Given the description of an element on the screen output the (x, y) to click on. 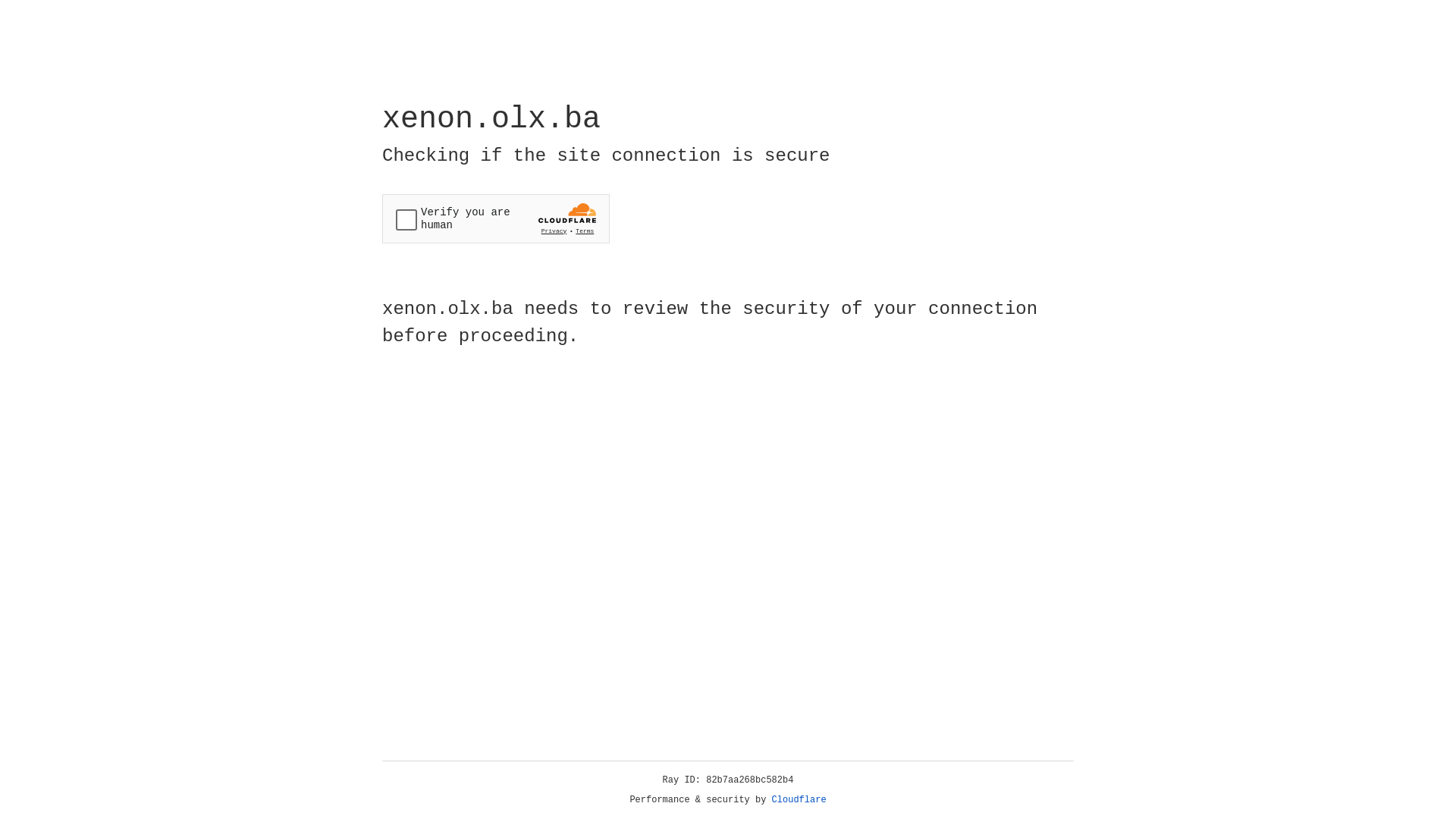
Widget containing a Cloudflare security challenge Element type: hover (495, 218)
Cloudflare Element type: text (798, 799)
